Given the description of an element on the screen output the (x, y) to click on. 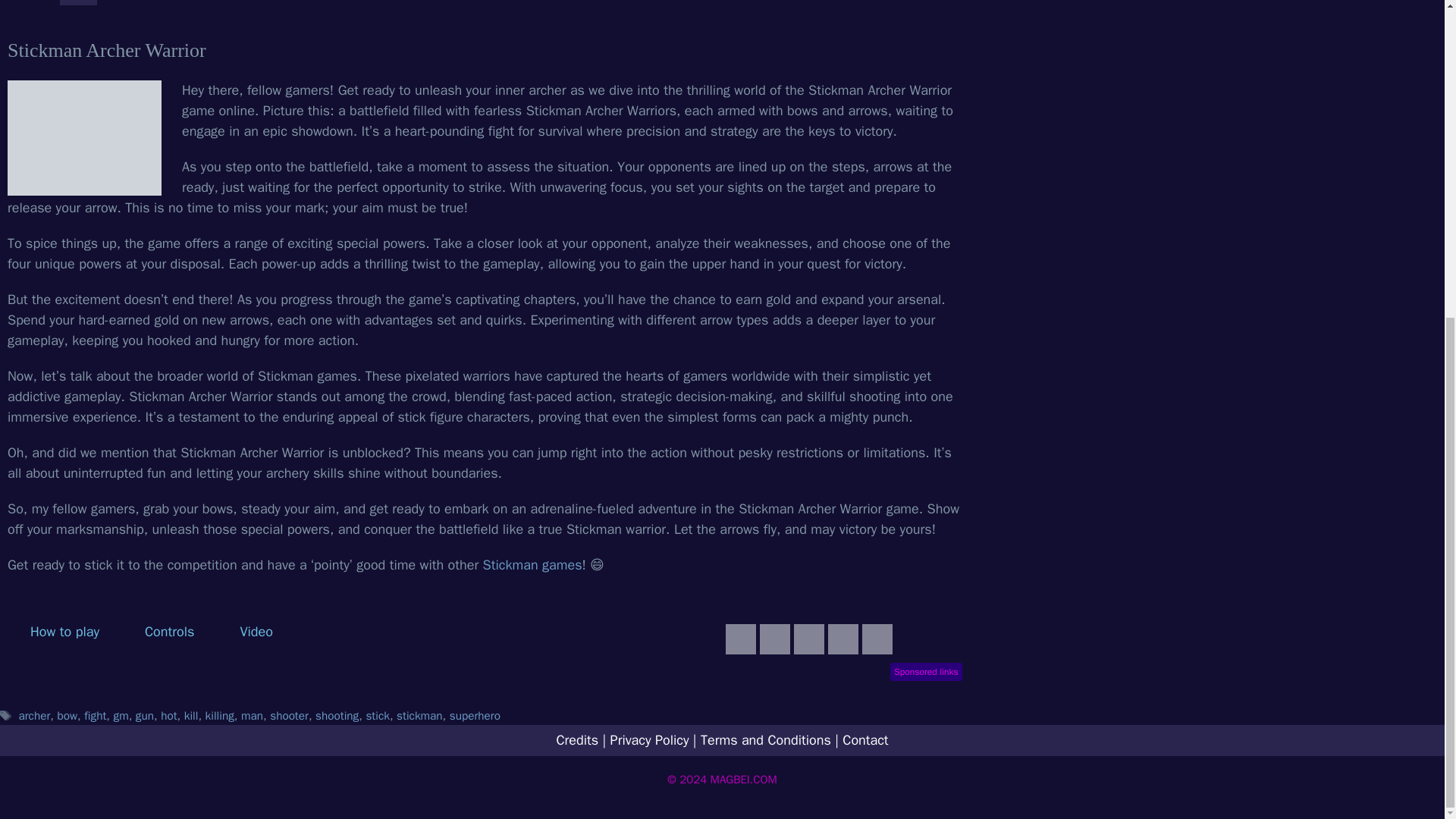
Stickman Archer Warrior (843, 639)
Facebook (775, 639)
Twitter (808, 639)
RSS (740, 639)
Stickman Archer Warrior (84, 137)
